Given the description of an element on the screen output the (x, y) to click on. 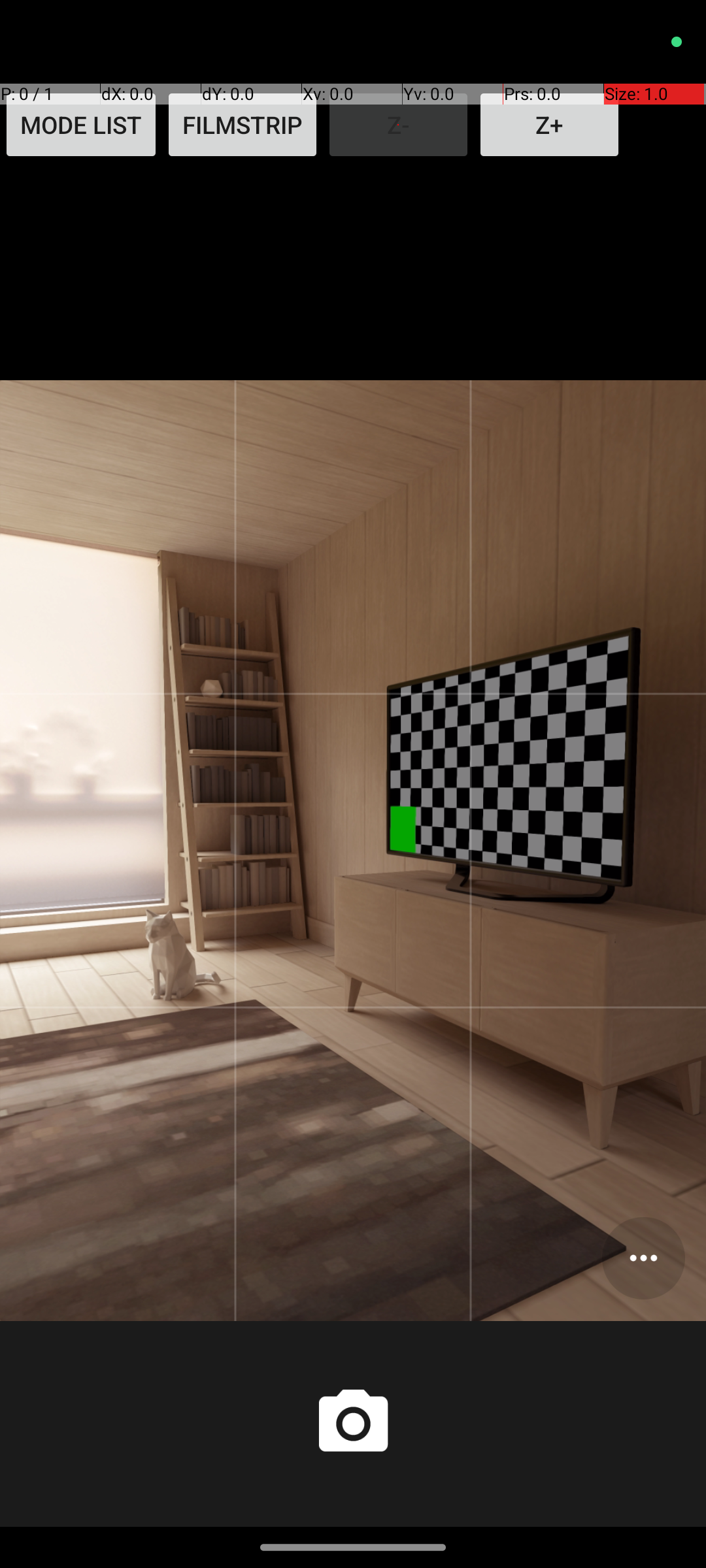
Options Element type: android.widget.LinearLayout (643, 1258)
Shutter Element type: android.widget.ImageView (353, 1423)
MODE LIST Element type: android.widget.Button (81, 124)
FILMSTRIP Element type: android.widget.Button (242, 124)
Z- Element type: android.widget.Button (397, 124)
Z+ Element type: android.widget.Button (548, 124)
